Given the description of an element on the screen output the (x, y) to click on. 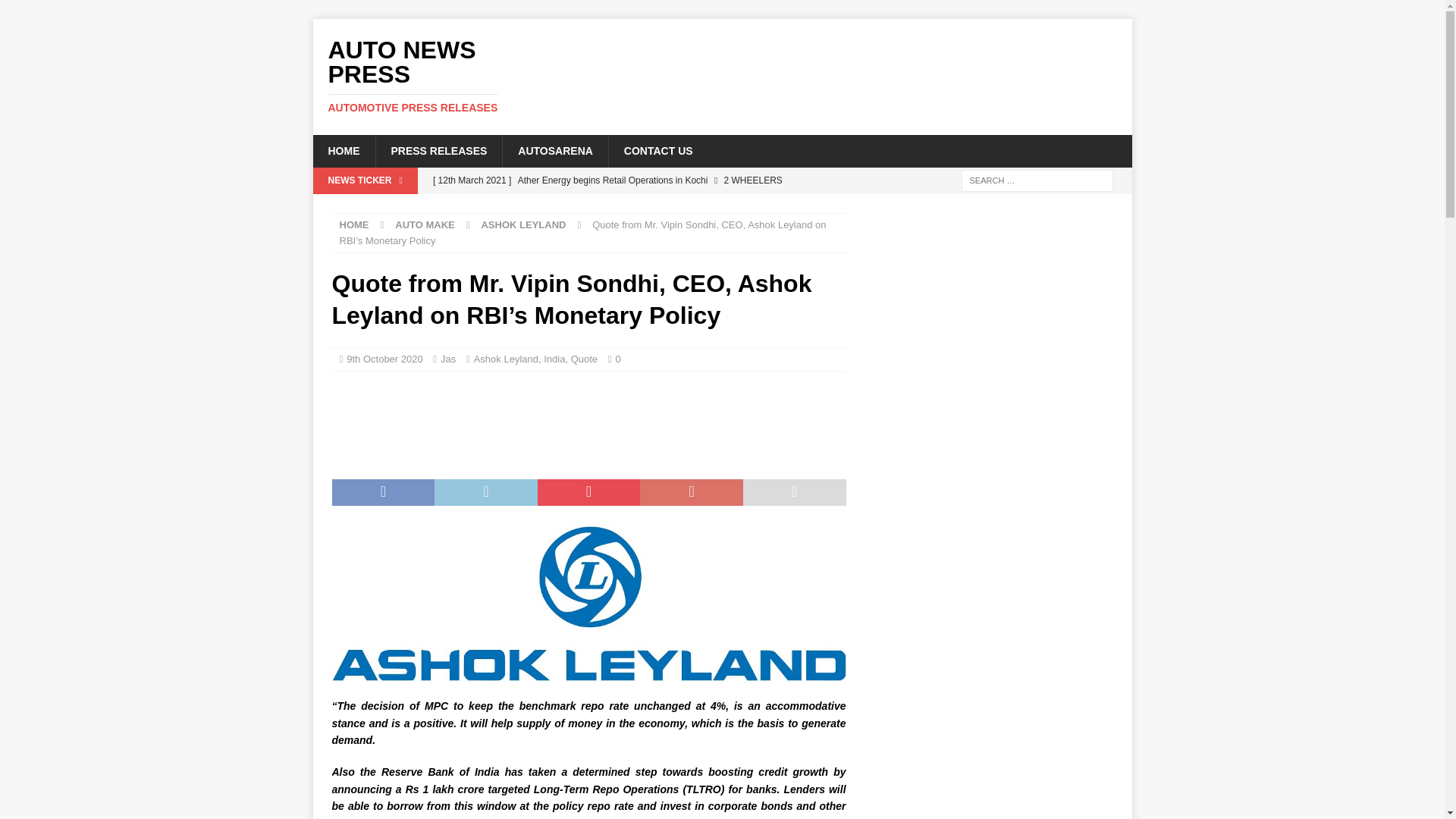
PRESS RELEASES (441, 75)
ASHOK LEYLAND (438, 151)
9th October 2020 (523, 224)
Ather Energy begins Retail Operations in Kochi (384, 358)
HOME (634, 180)
AUTOSARENA (343, 151)
CONTACT US (555, 151)
Jas (657, 151)
Ashok Leyland (448, 358)
Quote (506, 358)
Isuzu Motors India opens a new Service Facility in Mumbai (583, 358)
HOME (634, 218)
Auto News Press (354, 224)
India (441, 75)
